Given the description of an element on the screen output the (x, y) to click on. 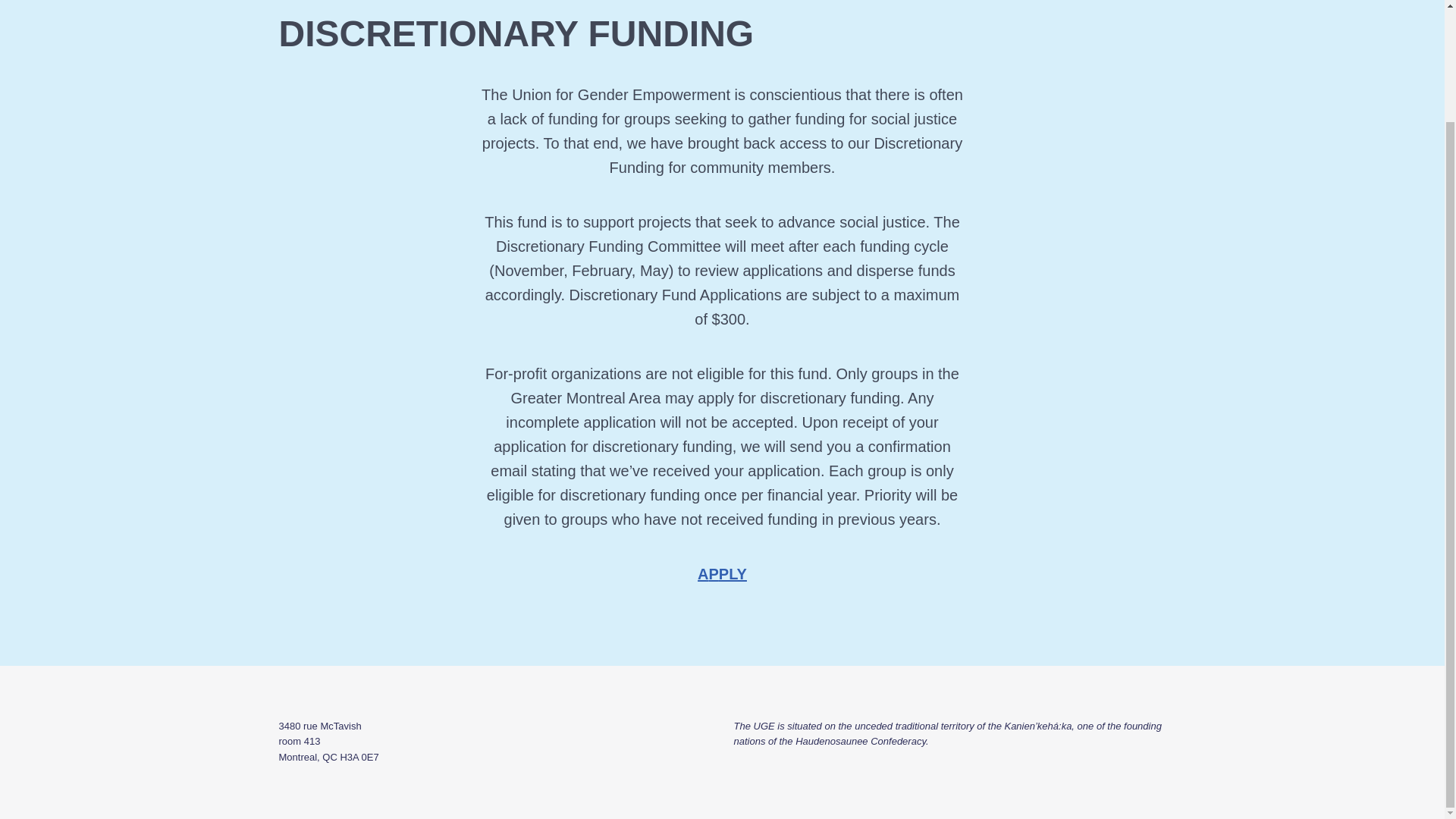
PLY (732, 573)
